Given the description of an element on the screen output the (x, y) to click on. 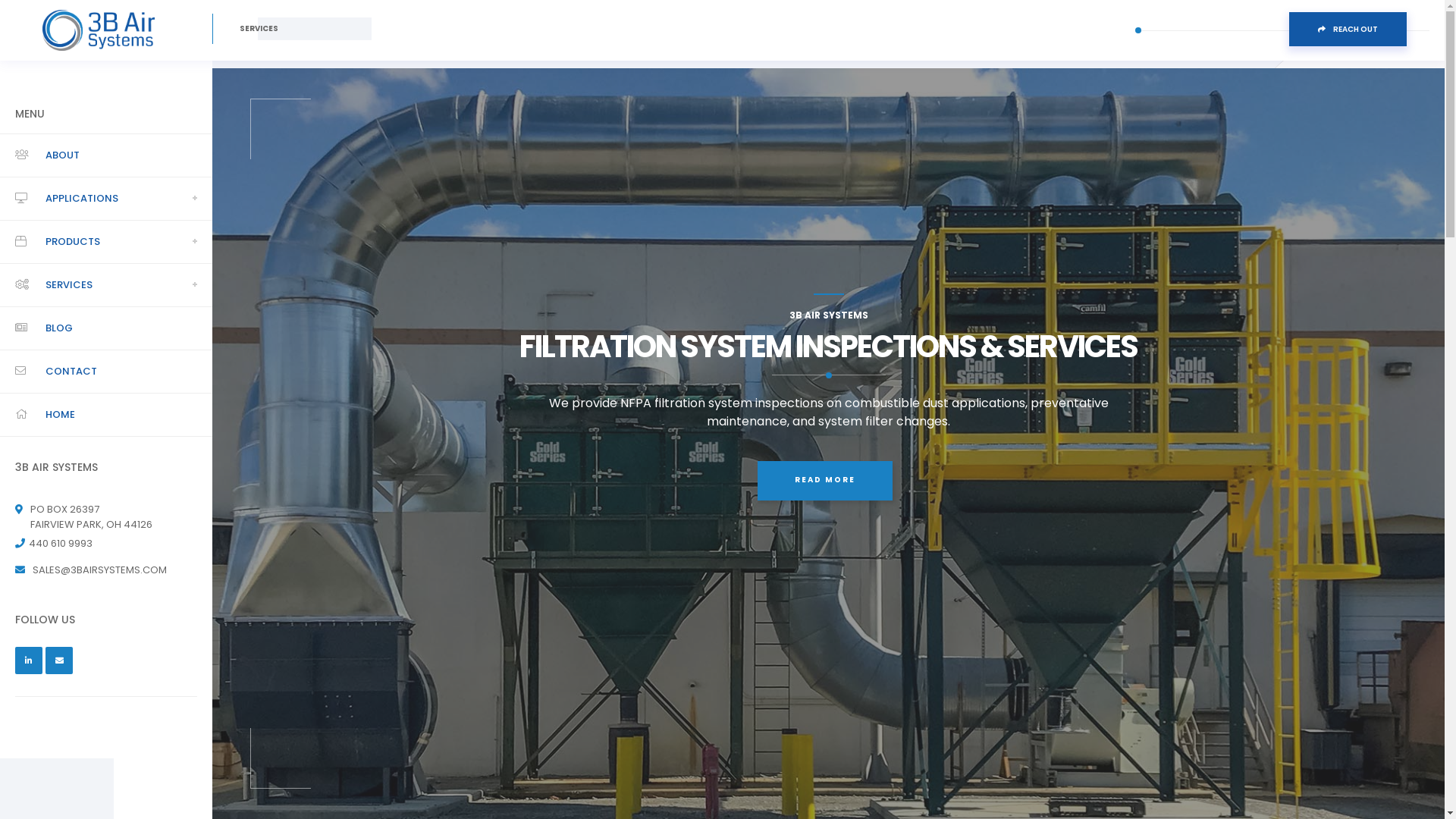
PO BOX 26397
FAIRVIEW PARK, OH 44126 Element type: text (91, 517)
ABOUT Element type: text (62, 155)
BLOG Element type: text (58, 327)
SALES@3BAIRSYSTEMS.COM Element type: text (99, 569)
HOME Element type: text (60, 414)
440 610 9993 Element type: text (60, 543)
APPLICATIONS Element type: text (81, 198)
SERVICES Element type: text (68, 284)
READ MORE Element type: text (823, 480)
PRODUCTS Element type: text (72, 241)
CONTACT Element type: text (71, 371)
